Given the description of an element on the screen output the (x, y) to click on. 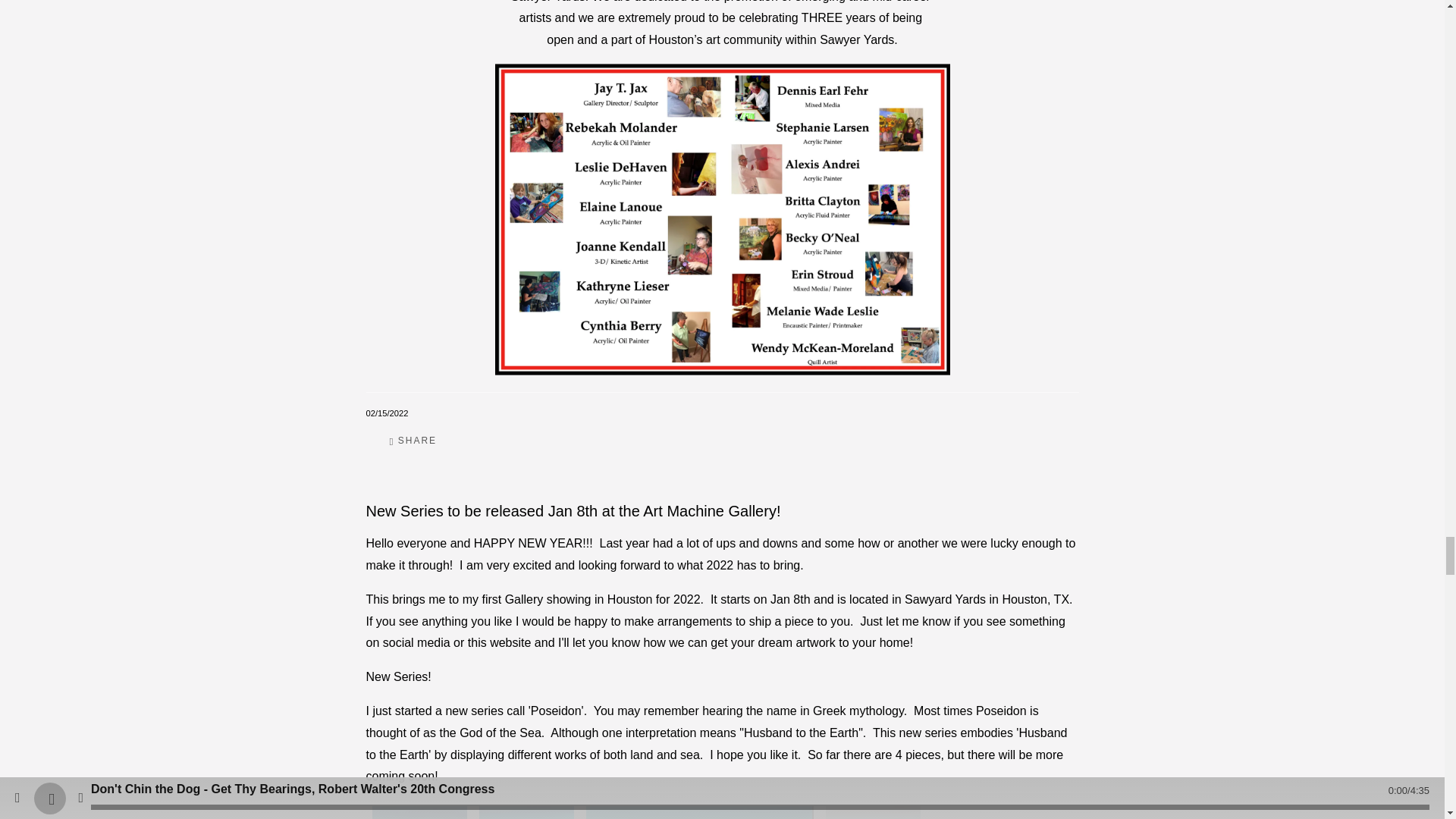
February 15, 2022 13:05 (386, 412)
